Given the description of an element on the screen output the (x, y) to click on. 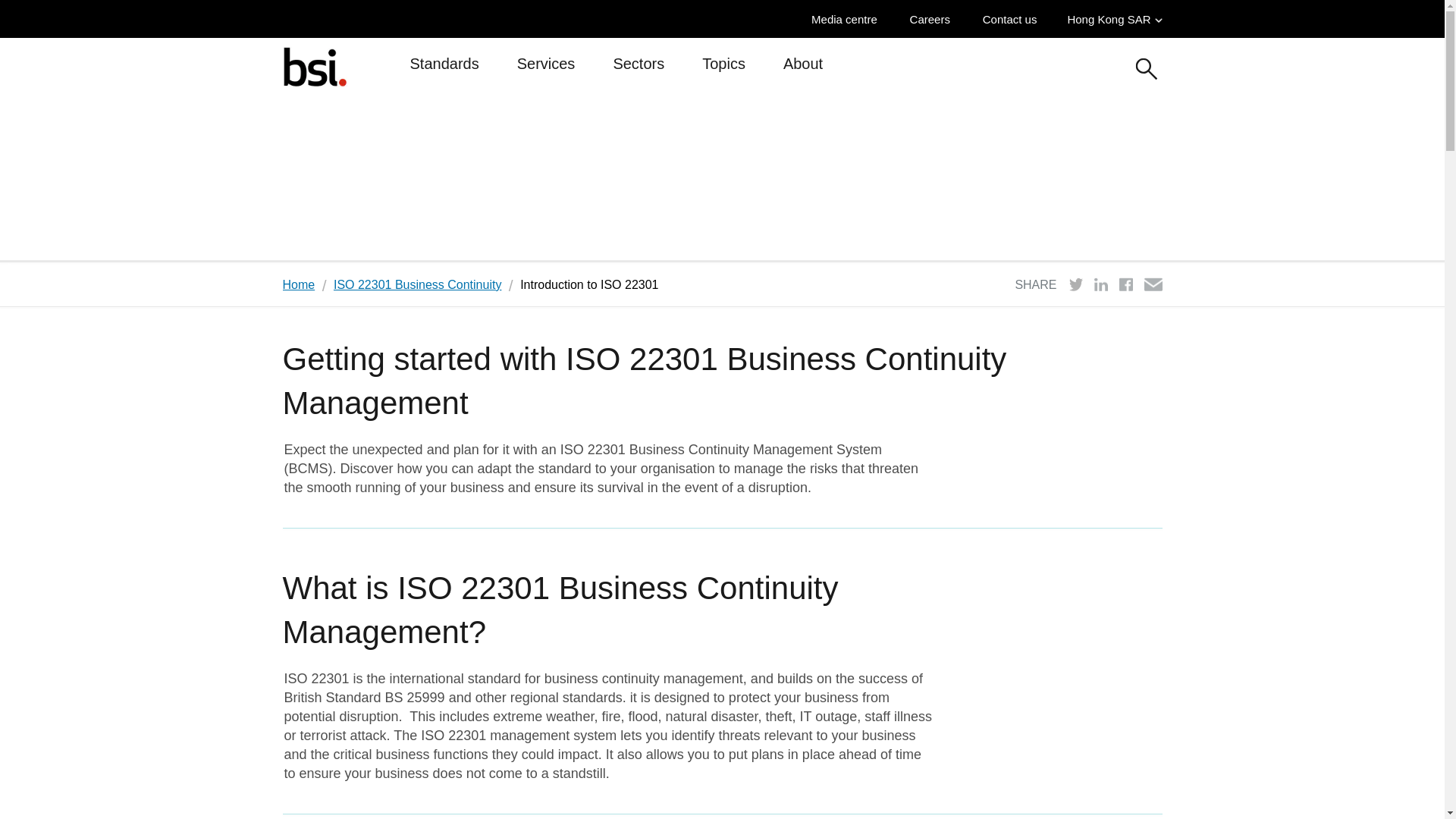
Contact us (1013, 19)
Contact us (1013, 19)
Media centre (847, 19)
Standards (444, 70)
Media centre (847, 19)
logo (314, 65)
Careers (934, 19)
Hong Kong SAR (1114, 19)
Careers (934, 19)
